Given the description of an element on the screen output the (x, y) to click on. 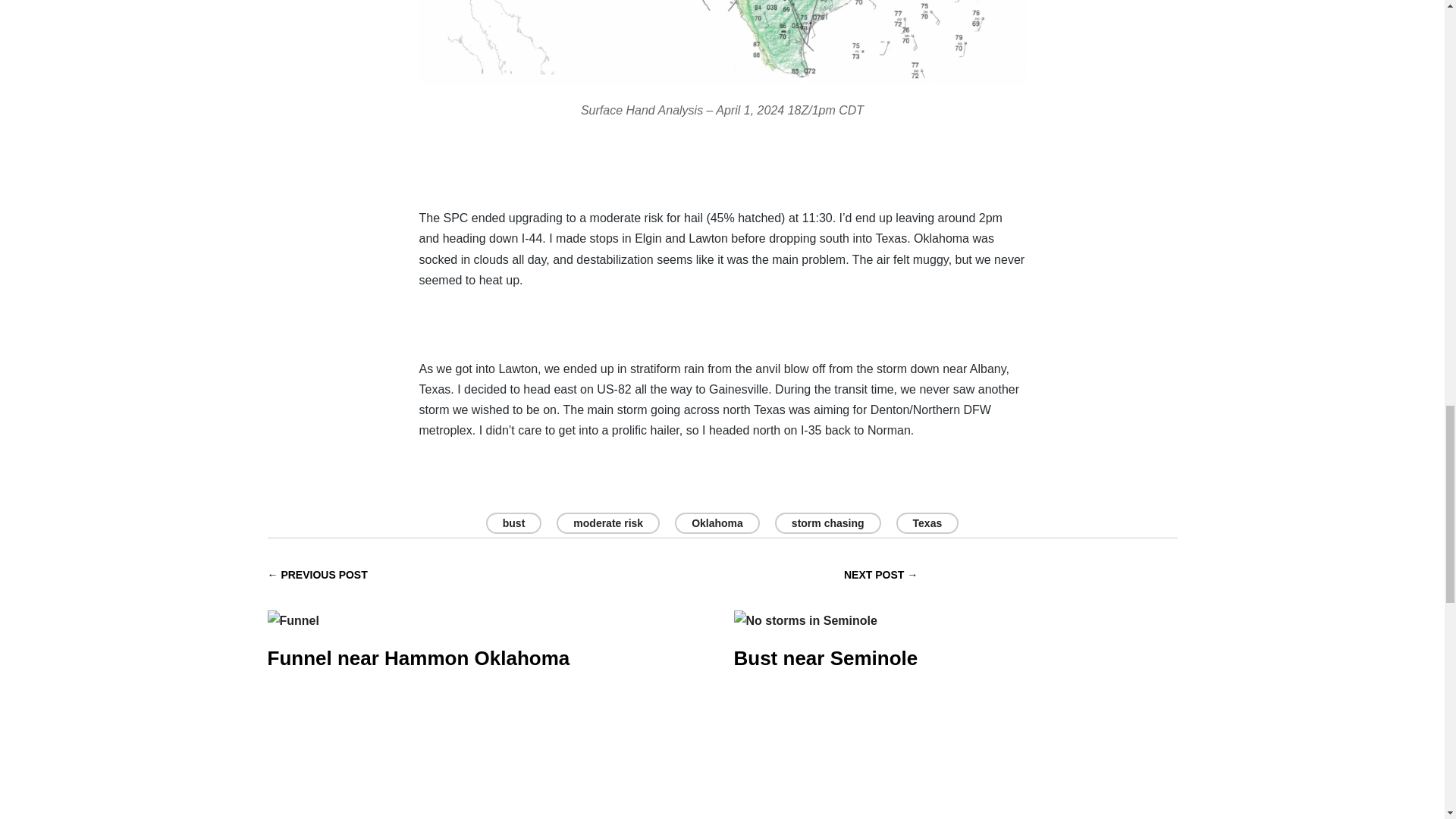
Texas (927, 522)
Funnel near Hammon Oklahoma (417, 628)
bust (513, 522)
Bust near Seminole (825, 628)
storm chasing (827, 522)
moderate risk (607, 522)
Oklahoma (717, 522)
